Given the description of an element on the screen output the (x, y) to click on. 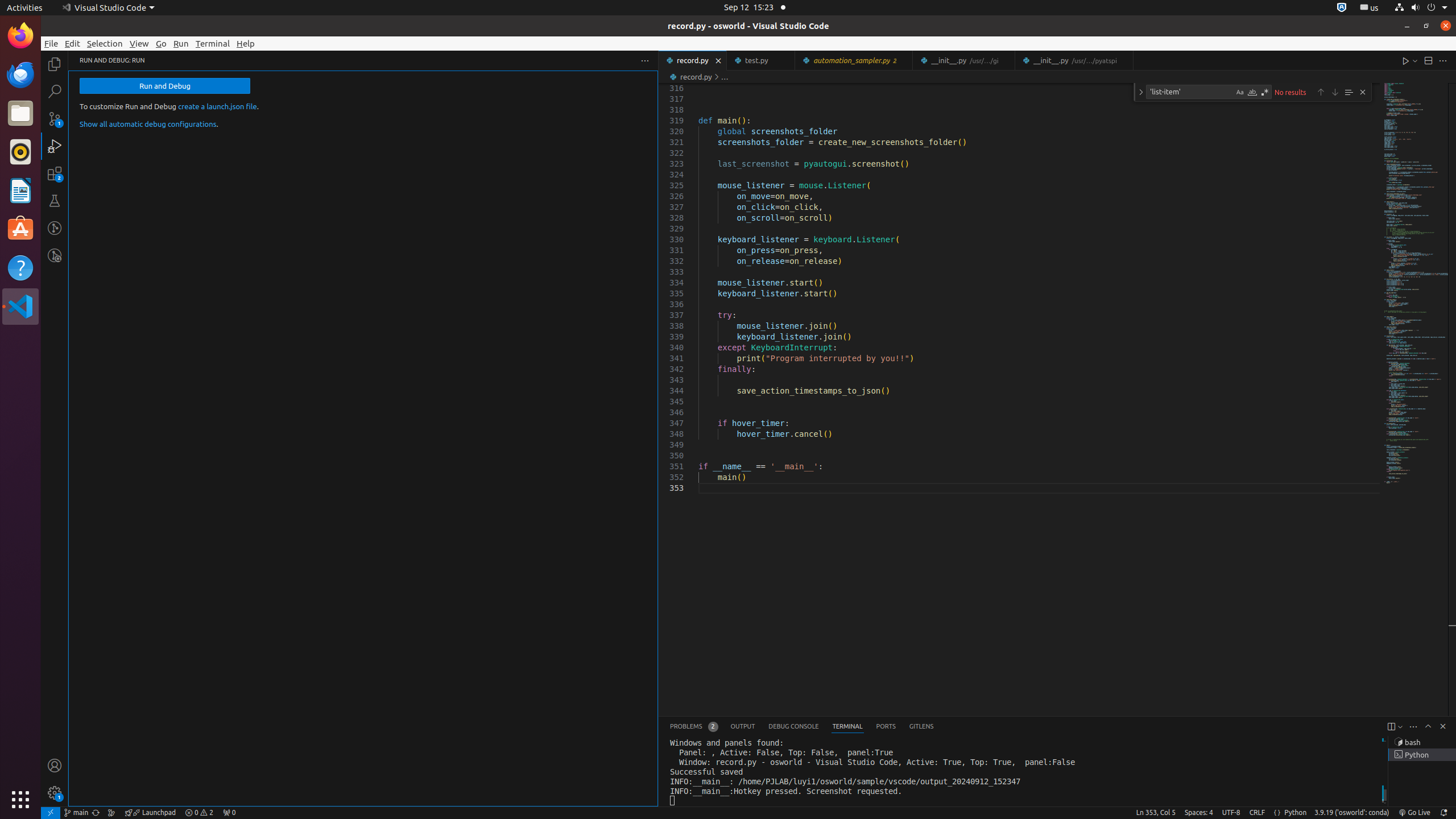
Source Control (Ctrl+Shift+G G) - 1 pending changes Source Control (Ctrl+Shift+G G) - 1 pending changes Element type: page-tab (54, 118)
CRLF Element type: push-button (1257, 812)
View Element type: push-button (139, 43)
OSWorld (Git) - main, Checkout Branch/Tag... Element type: push-button (75, 812)
Ln 353, Col 5 Element type: push-button (1155, 812)
